Given the description of an element on the screen output the (x, y) to click on. 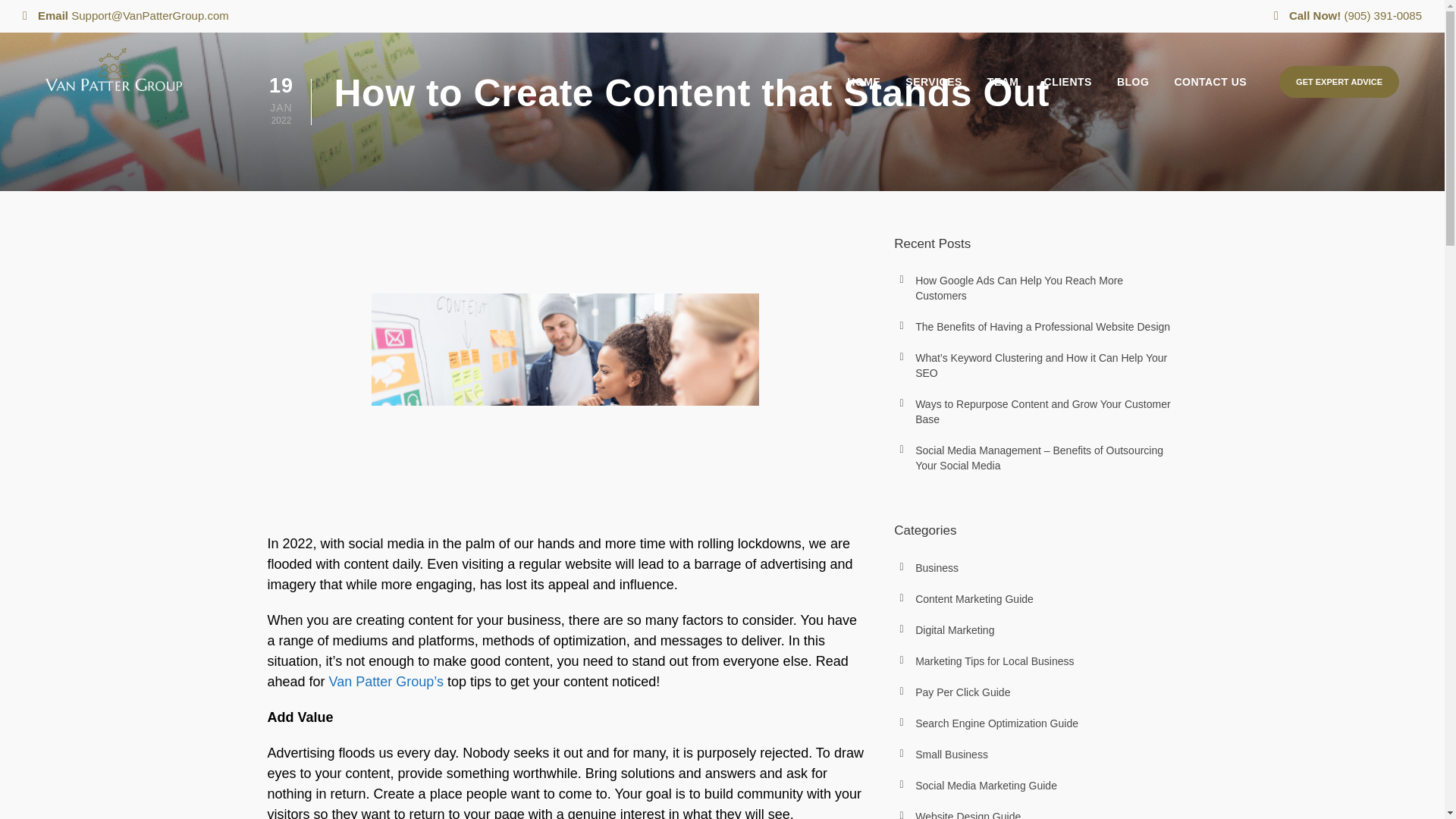
HOME (857, 94)
BLOG (1126, 94)
SERVICES (927, 94)
CLIENTS (1062, 94)
TEAM (997, 94)
